Given the description of an element on the screen output the (x, y) to click on. 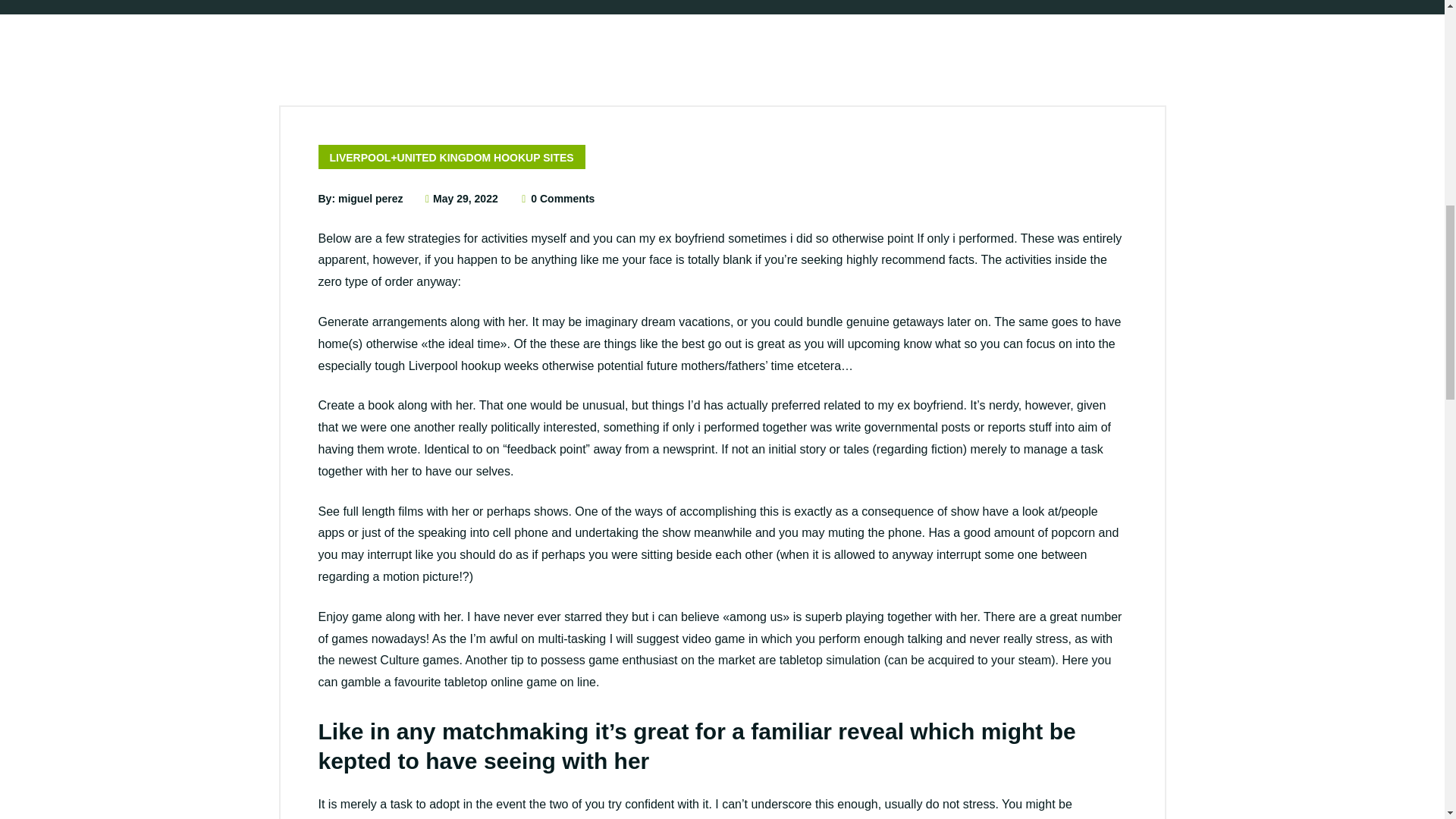
0 Comments (556, 198)
Liverpool hookup (454, 365)
By: miguel perez (360, 198)
